Given the description of an element on the screen output the (x, y) to click on. 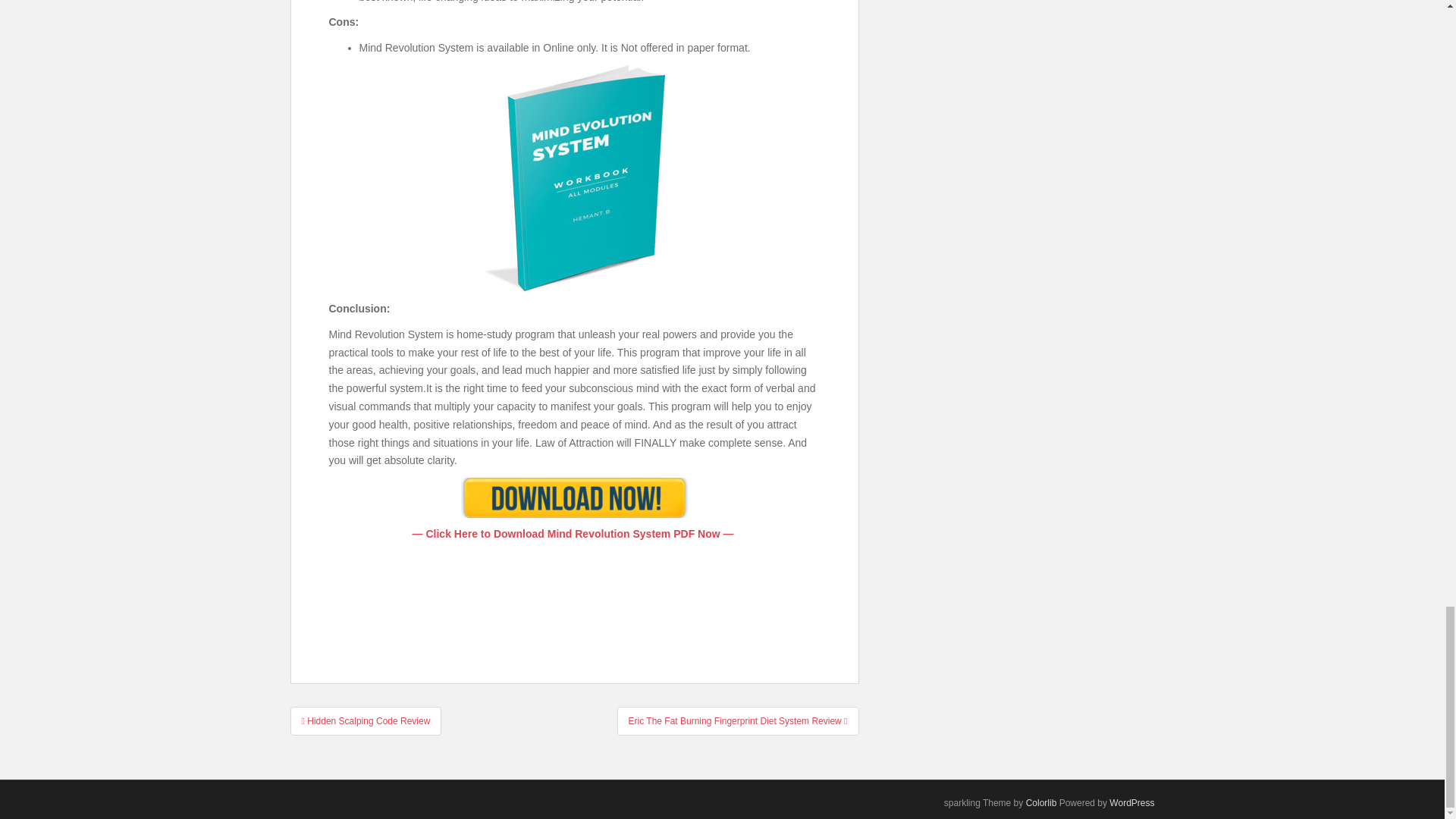
Eric The Fat Burning Fingerprint Diet System Review (738, 720)
WordPress (1131, 802)
Colorlib (1041, 802)
Hidden Scalping Code Review (365, 720)
